Given the description of an element on the screen output the (x, y) to click on. 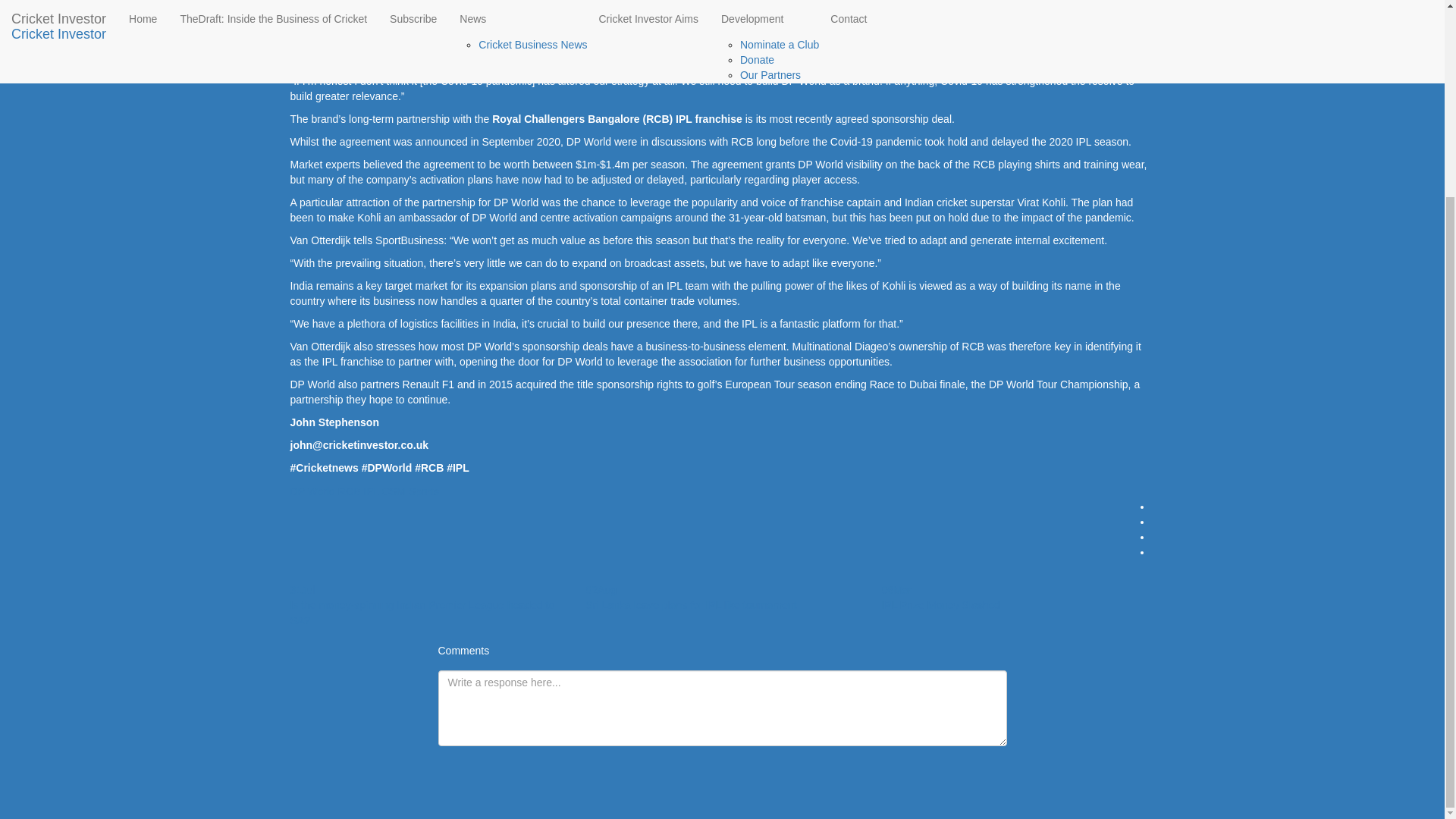
RCB (349, 491)
CSM Sports (410, 491)
Is the money-spinning Indian Premier League headed to SA? (421, 612)
IPL (370, 491)
31Jul (301, 589)
02Aug (600, 589)
DP World (311, 491)
